Given the description of an element on the screen output the (x, y) to click on. 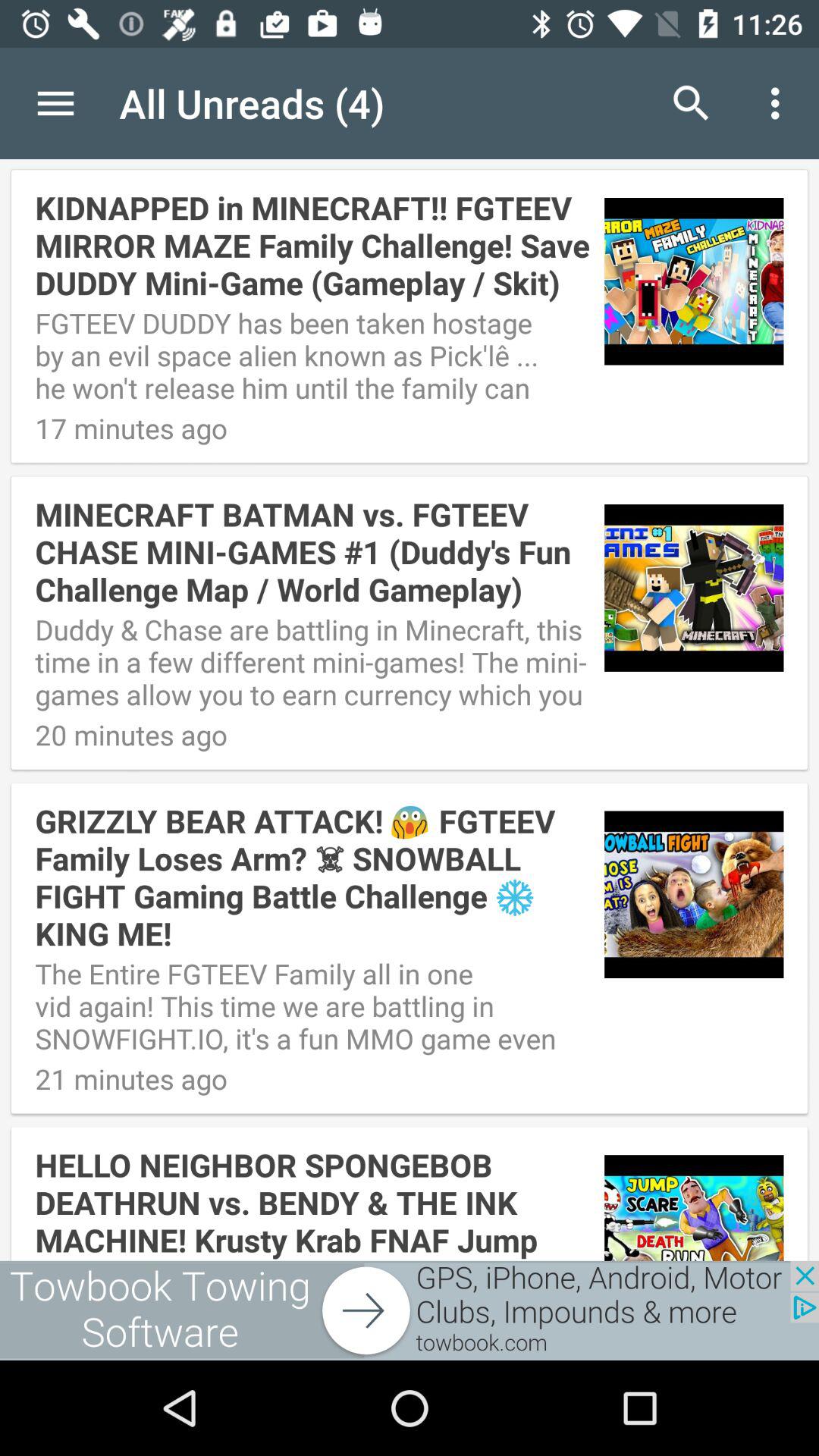
open advertisement (409, 1310)
